Given the description of an element on the screen output the (x, y) to click on. 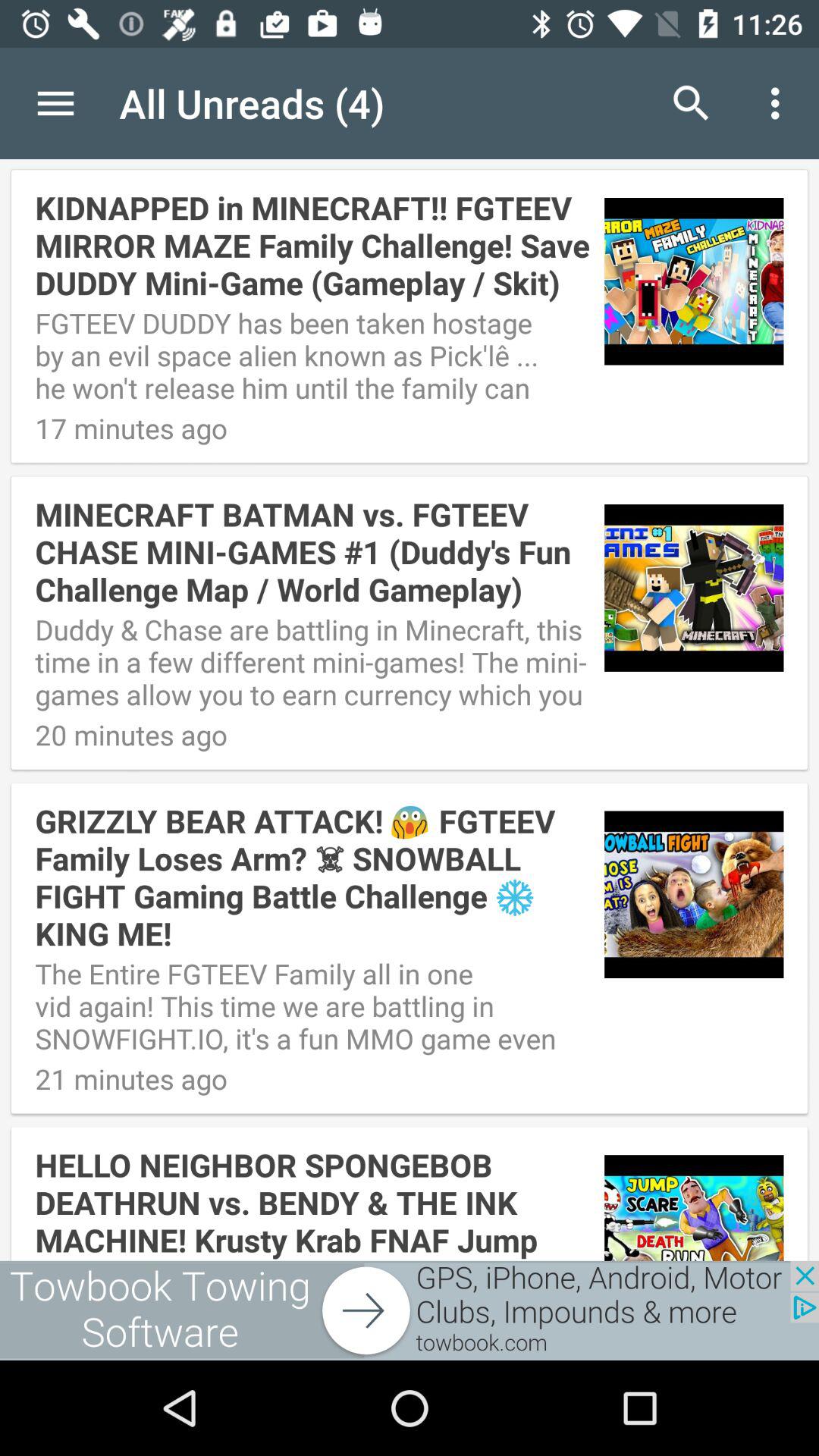
open advertisement (409, 1310)
